Given the description of an element on the screen output the (x, y) to click on. 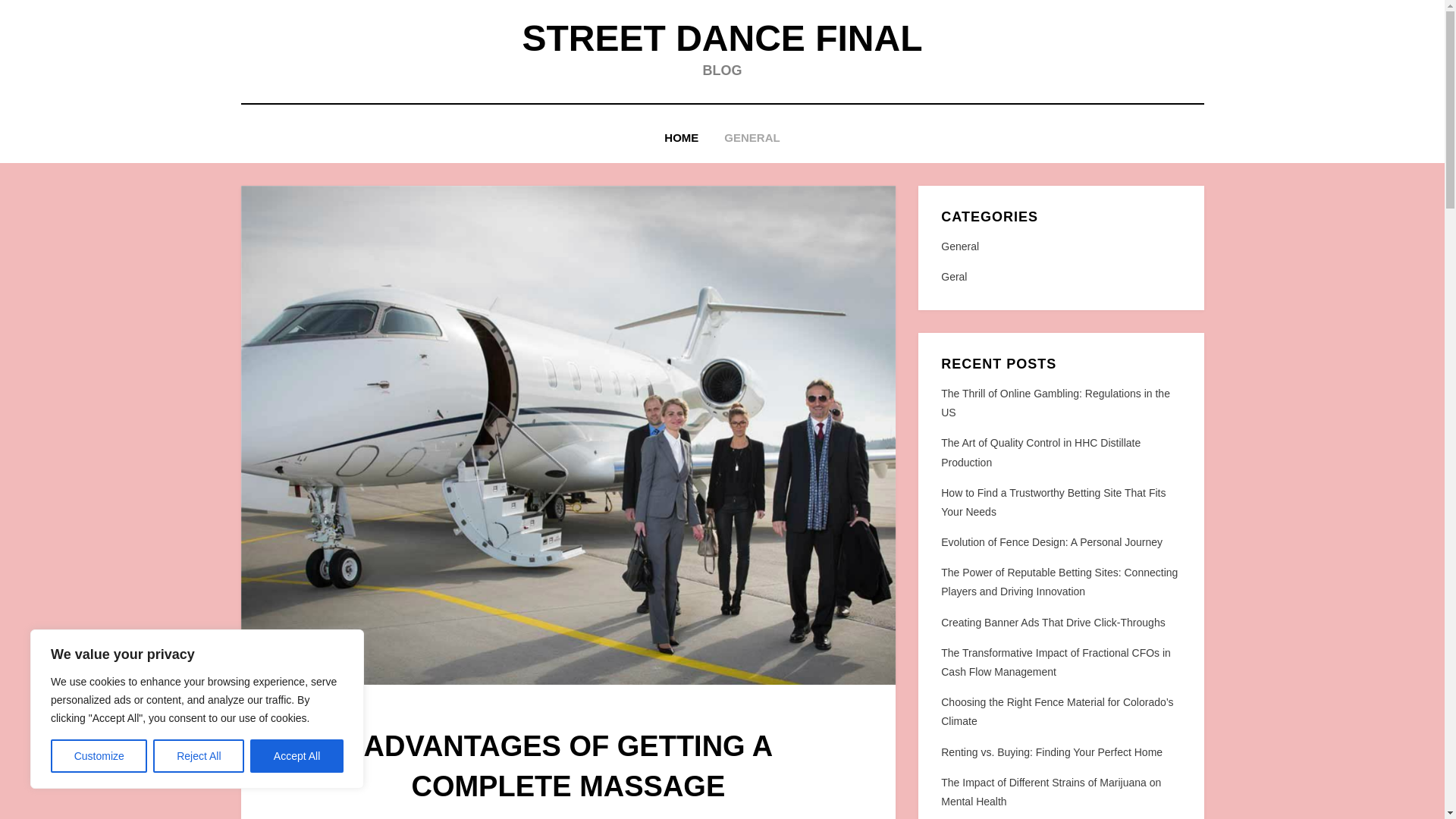
Creating Banner Ads That Drive Click-Throughs (1052, 622)
GENERAL (751, 137)
Street Dance Final (721, 38)
Customize (98, 756)
STREET DANCE FINAL (721, 38)
Reject All (198, 756)
The Thrill of Online Gambling: Regulations in the US (1055, 402)
HOME (680, 137)
How to Find a Trustworthy Betting Site That Fits Your Needs (1053, 501)
Accept All (296, 756)
Geral (1060, 276)
General (1060, 246)
The Art of Quality Control in HHC Distillate Production (1040, 451)
